Given the description of an element on the screen output the (x, y) to click on. 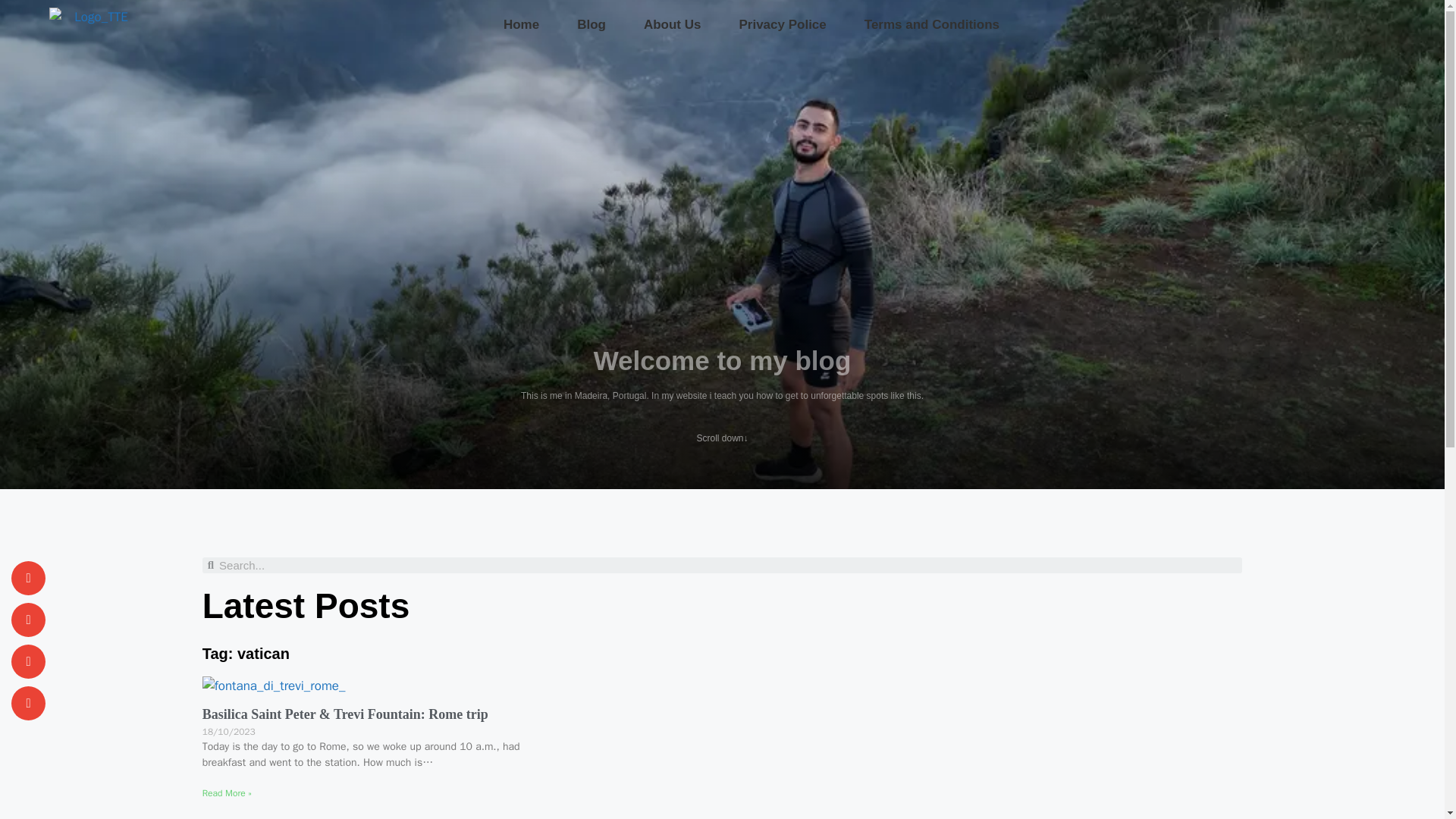
Terms and Conditions (931, 24)
Search (727, 565)
Home (520, 24)
Privacy Police (781, 24)
Blog (590, 24)
About Us (672, 24)
